Given the description of an element on the screen output the (x, y) to click on. 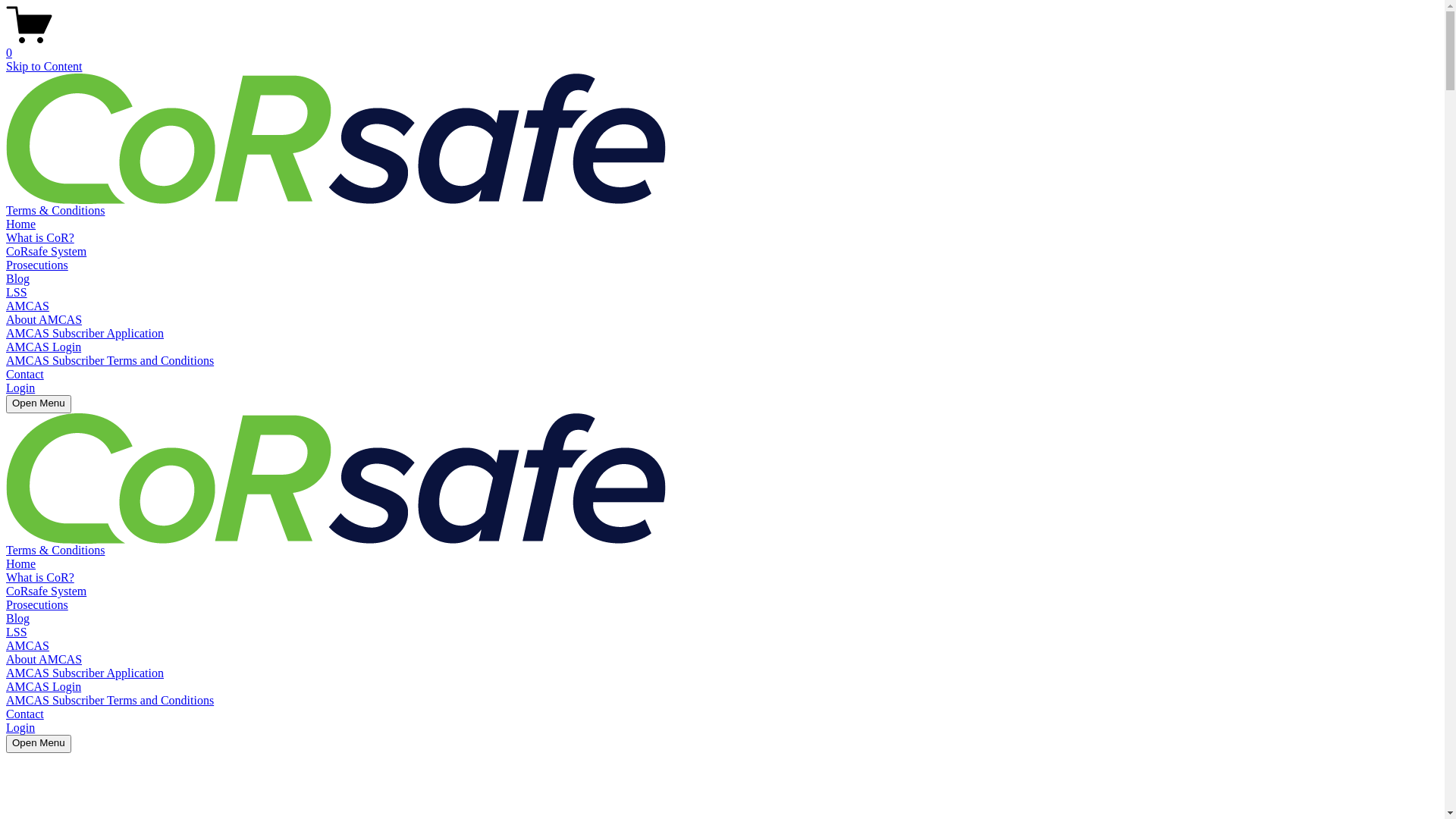
Open Menu Element type: text (38, 743)
Home Element type: text (20, 223)
AMCAS Login Element type: text (43, 346)
Terms & Conditions Element type: text (55, 209)
What is CoR? Element type: text (40, 577)
AMCAS Subscriber Application Element type: text (84, 672)
AMCAS Element type: text (27, 305)
Login Element type: text (20, 727)
CoRsafe System Element type: text (46, 590)
AMCAS Login Element type: text (43, 686)
About AMCAS Element type: text (43, 319)
Contact Element type: text (24, 713)
Terms & Conditions Element type: text (55, 549)
Skip to Content Element type: text (43, 65)
Open Menu Element type: text (38, 404)
Blog Element type: text (17, 617)
AMCAS Subscriber Terms and Conditions Element type: text (109, 360)
AMCAS Element type: text (27, 645)
CoRsafe System Element type: text (46, 250)
LSS Element type: text (16, 631)
About AMCAS Element type: text (43, 658)
What is CoR? Element type: text (40, 237)
AMCAS Subscriber Terms and Conditions Element type: text (109, 699)
Home Element type: text (20, 563)
Prosecutions Element type: text (37, 604)
AMCAS Subscriber Application Element type: text (84, 332)
Prosecutions Element type: text (37, 264)
Contact Element type: text (24, 373)
Login Element type: text (20, 387)
LSS Element type: text (16, 291)
0 Element type: text (722, 45)
Blog Element type: text (17, 278)
